Given the description of an element on the screen output the (x, y) to click on. 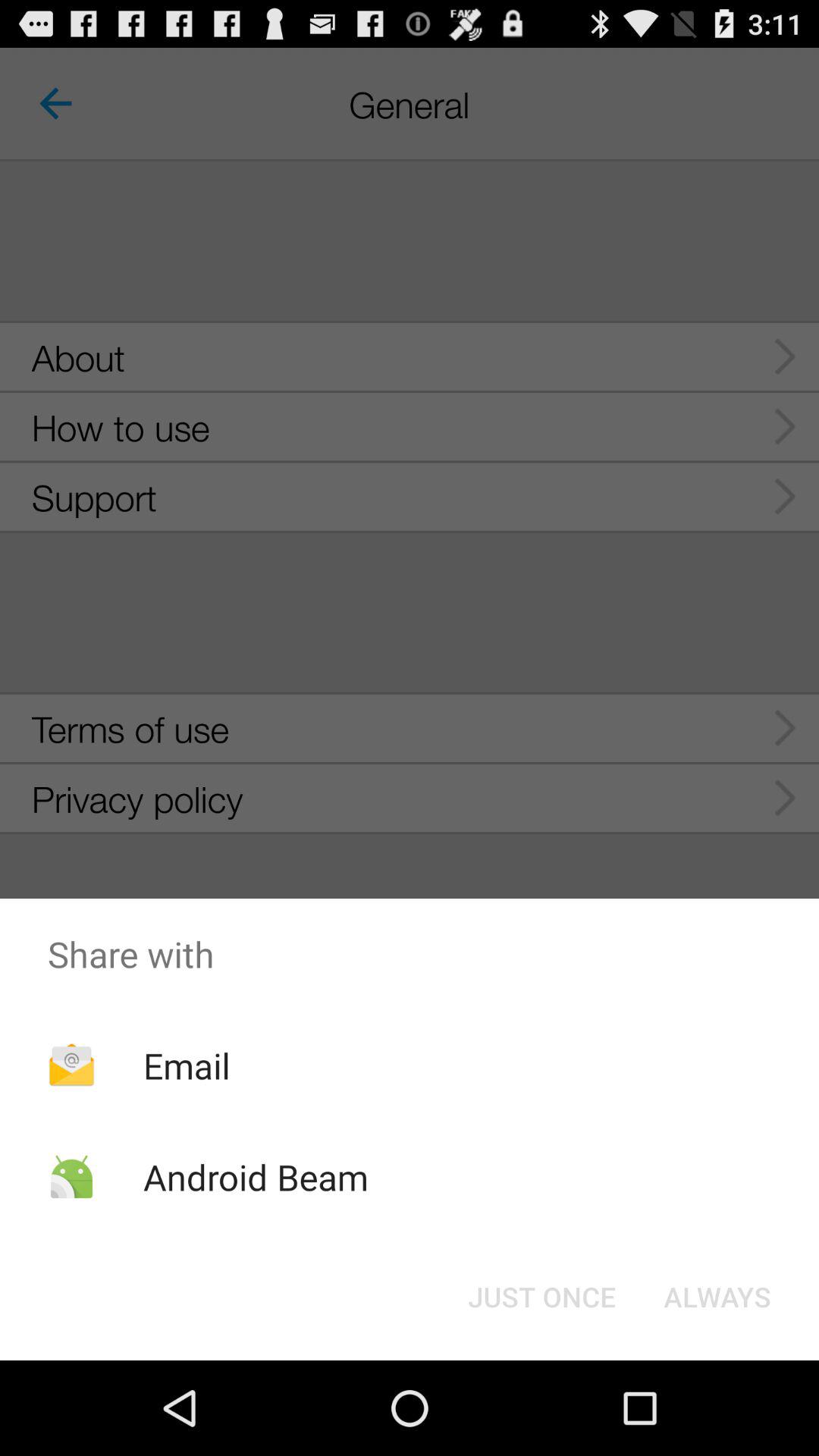
launch icon below the share with app (541, 1296)
